Given the description of an element on the screen output the (x, y) to click on. 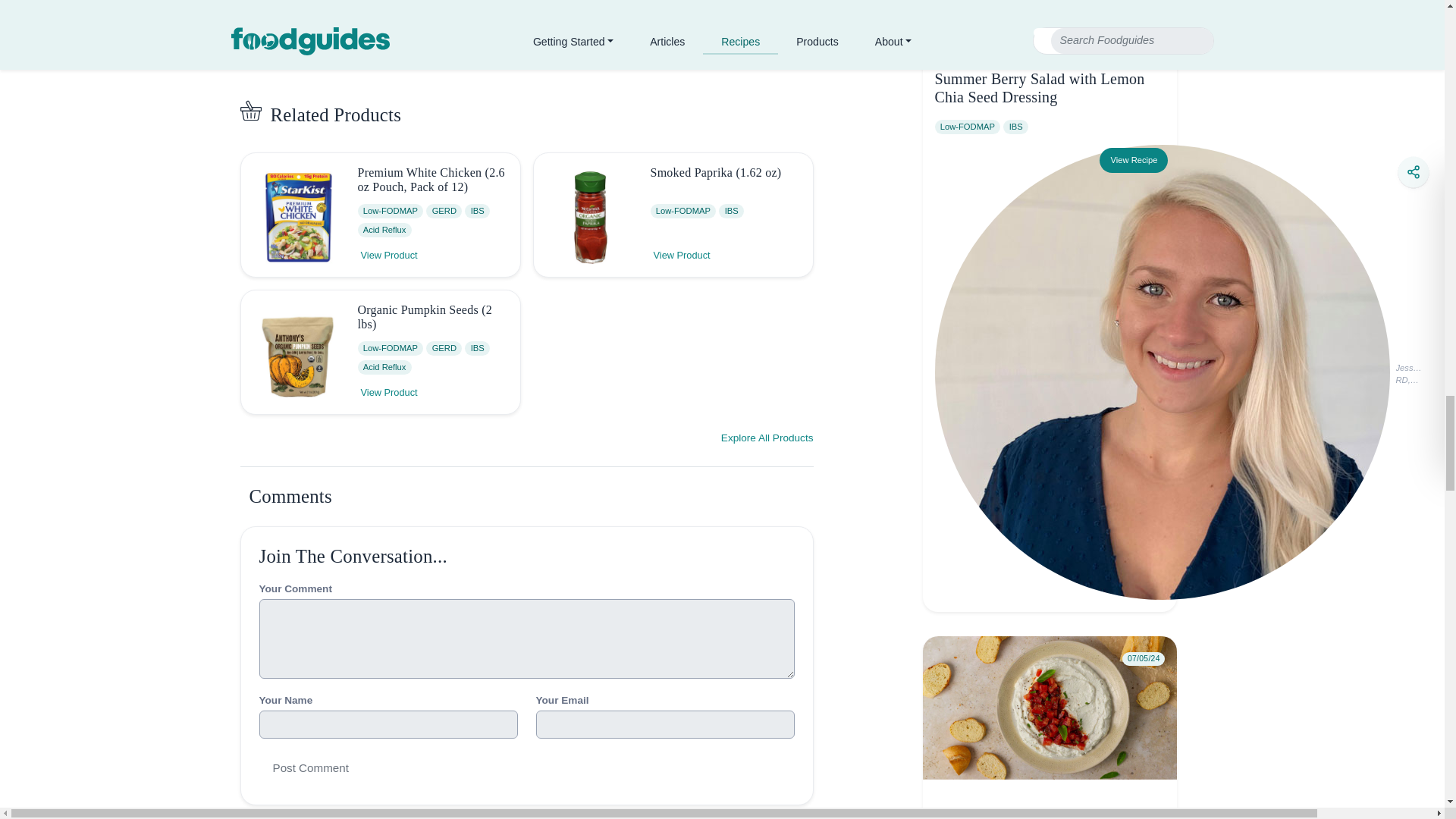
Lemon chicken breasts. (540, 52)
Post Comment (310, 767)
